Given the description of an element on the screen output the (x, y) to click on. 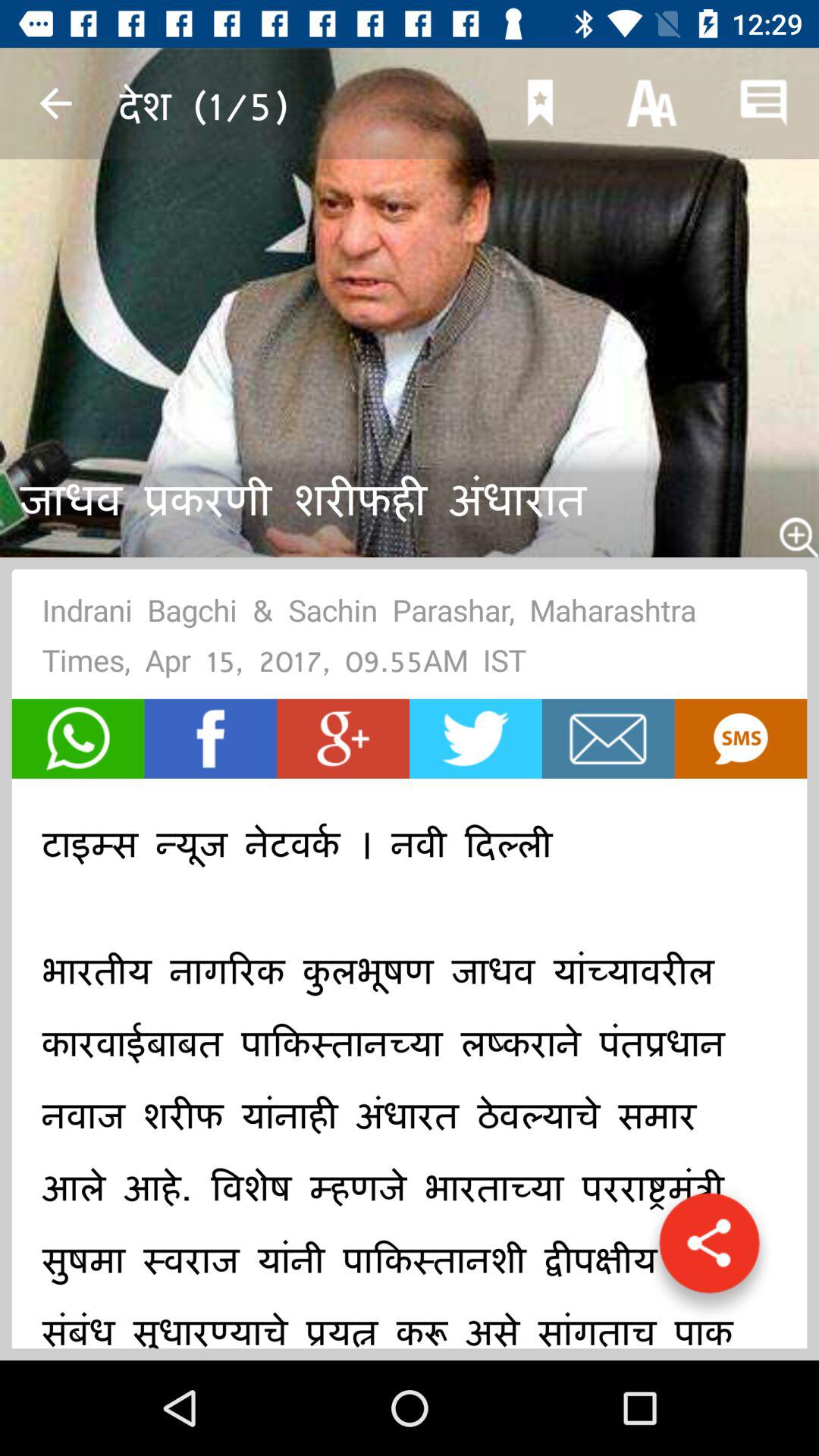
share via text button (740, 738)
